Given the description of an element on the screen output the (x, y) to click on. 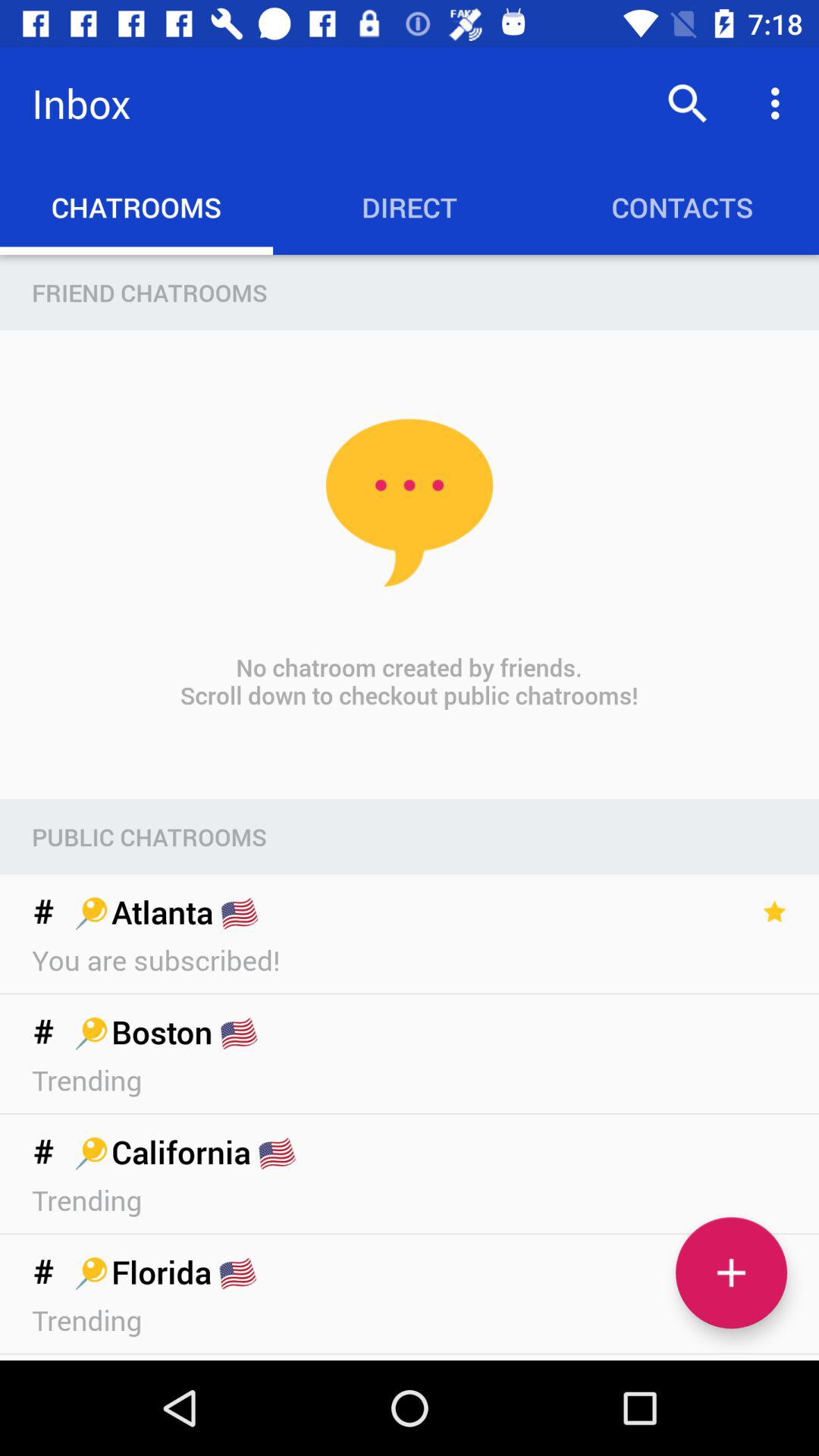
click the icon at the bottom right corner (731, 1272)
